Given the description of an element on the screen output the (x, y) to click on. 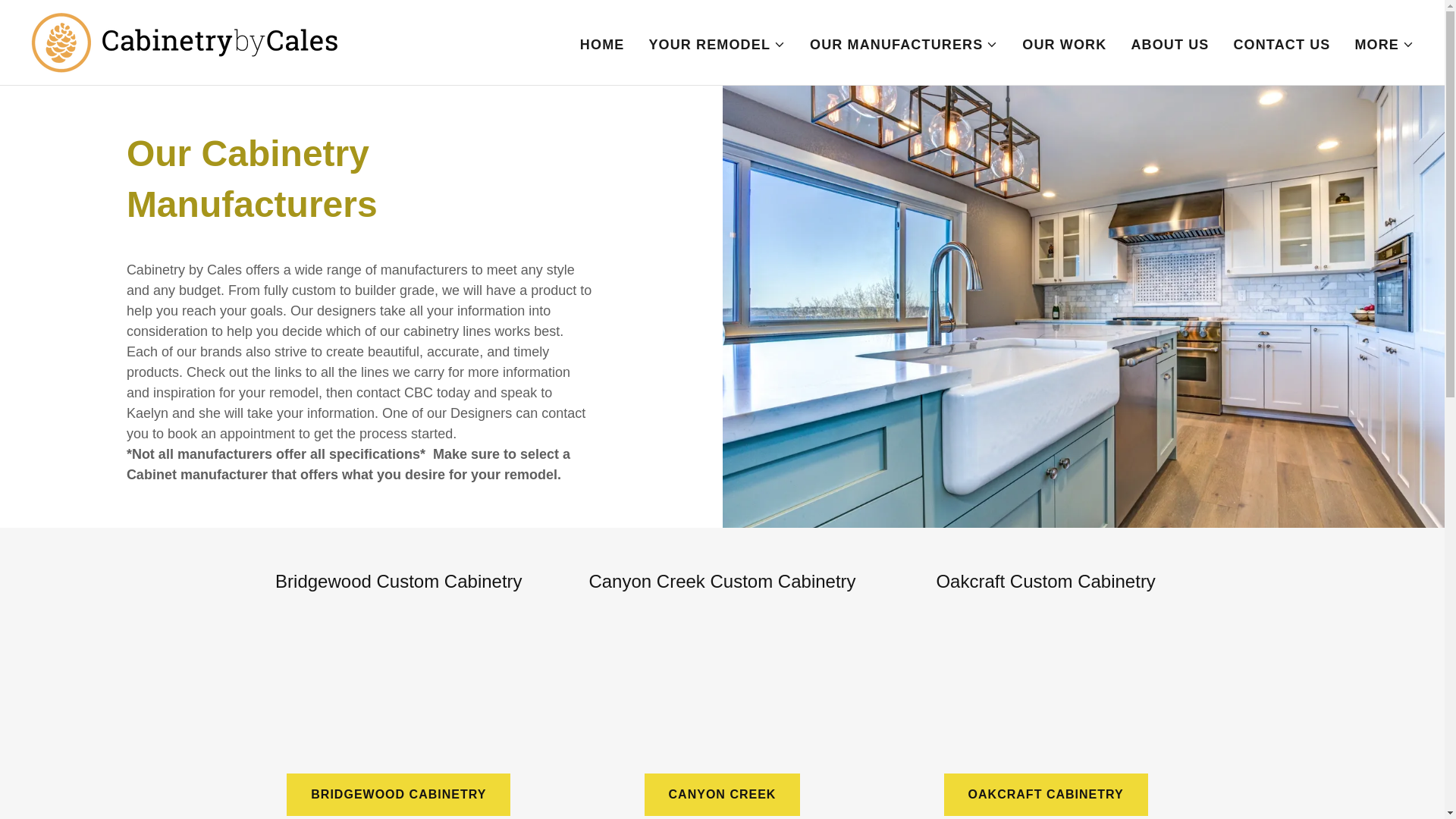
OUR WORK (1063, 43)
HOME (601, 43)
Cabinetry by Cales (183, 41)
OUR MANUFACTURERS (903, 44)
YOUR REMODEL (716, 44)
ABOUT US (1168, 43)
MORE (1383, 44)
CONTACT US (1281, 43)
